Given the description of an element on the screen output the (x, y) to click on. 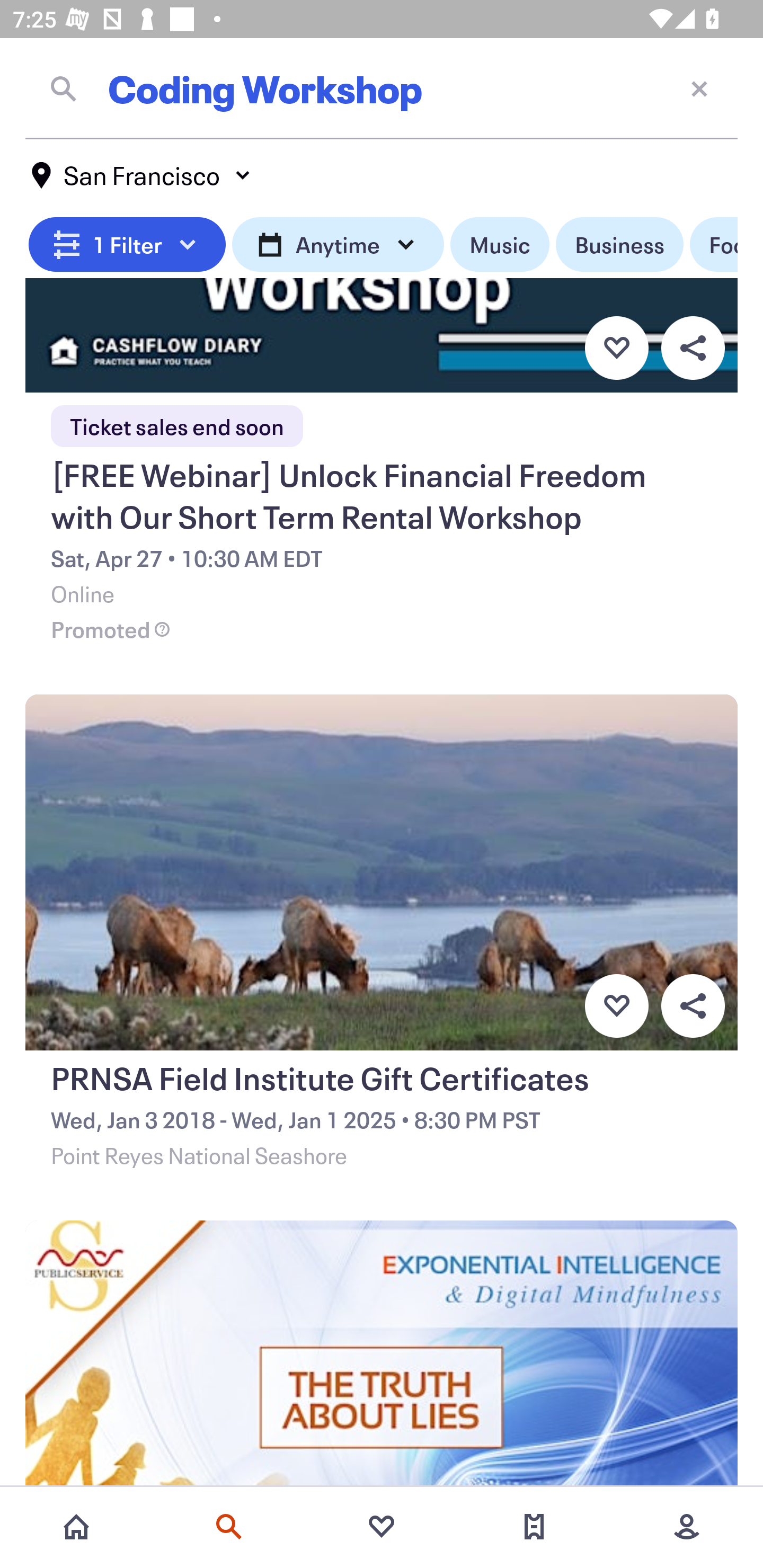
Coding Workshop Close current screen (381, 88)
Close current screen (699, 88)
San Francisco (141, 175)
Favorite button (616, 347)
Overflow menu button (692, 347)
Favorite button (616, 1005)
Overflow menu button (692, 1005)
Event's image (381, 1355)
Home (76, 1526)
Search events (228, 1526)
Favorites (381, 1526)
Tickets (533, 1526)
More (686, 1526)
